Given the description of an element on the screen output the (x, y) to click on. 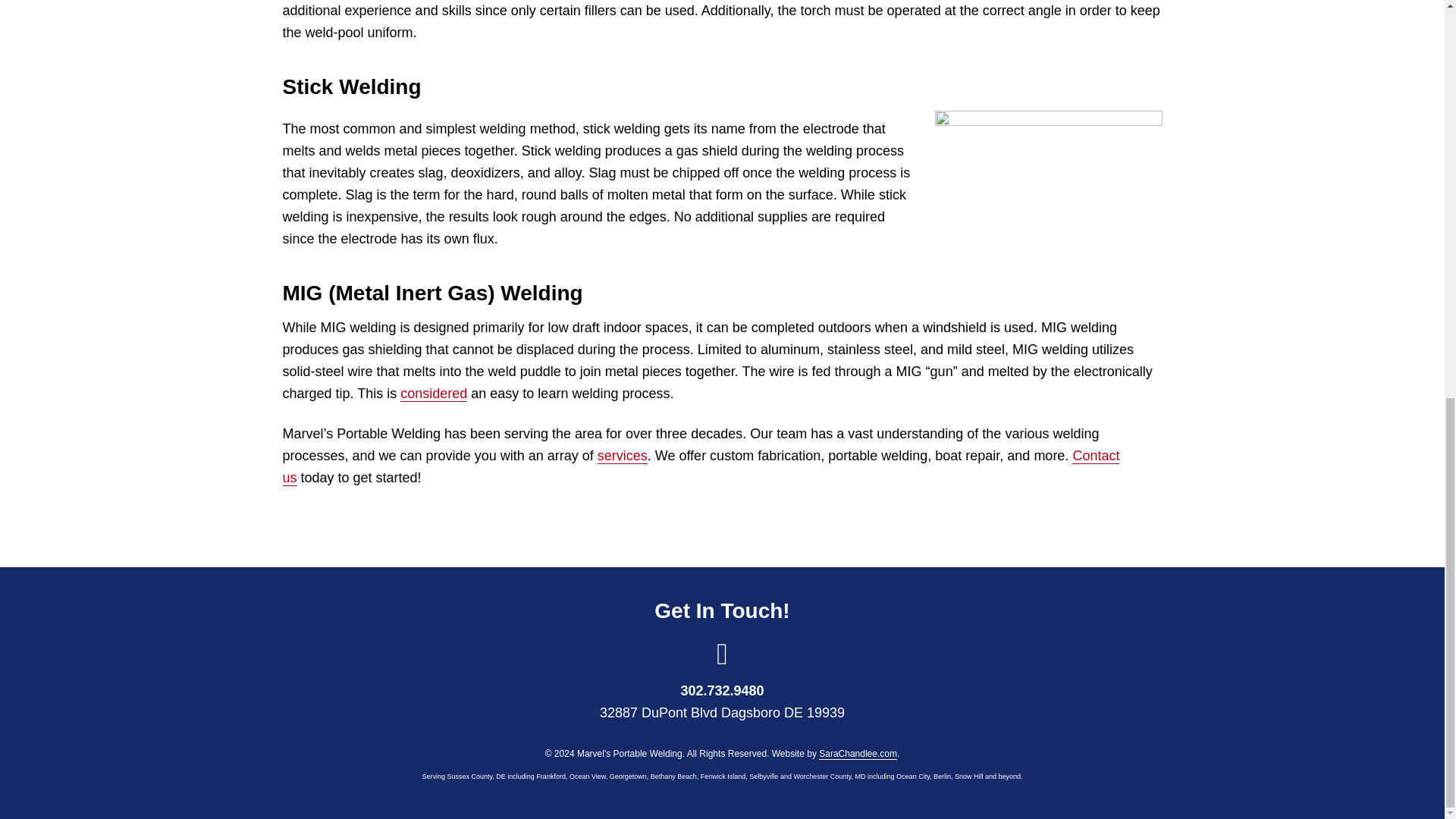
services (621, 455)
considered (433, 393)
Contact us (700, 466)
SaraChandlee.com (857, 754)
